Given the description of an element on the screen output the (x, y) to click on. 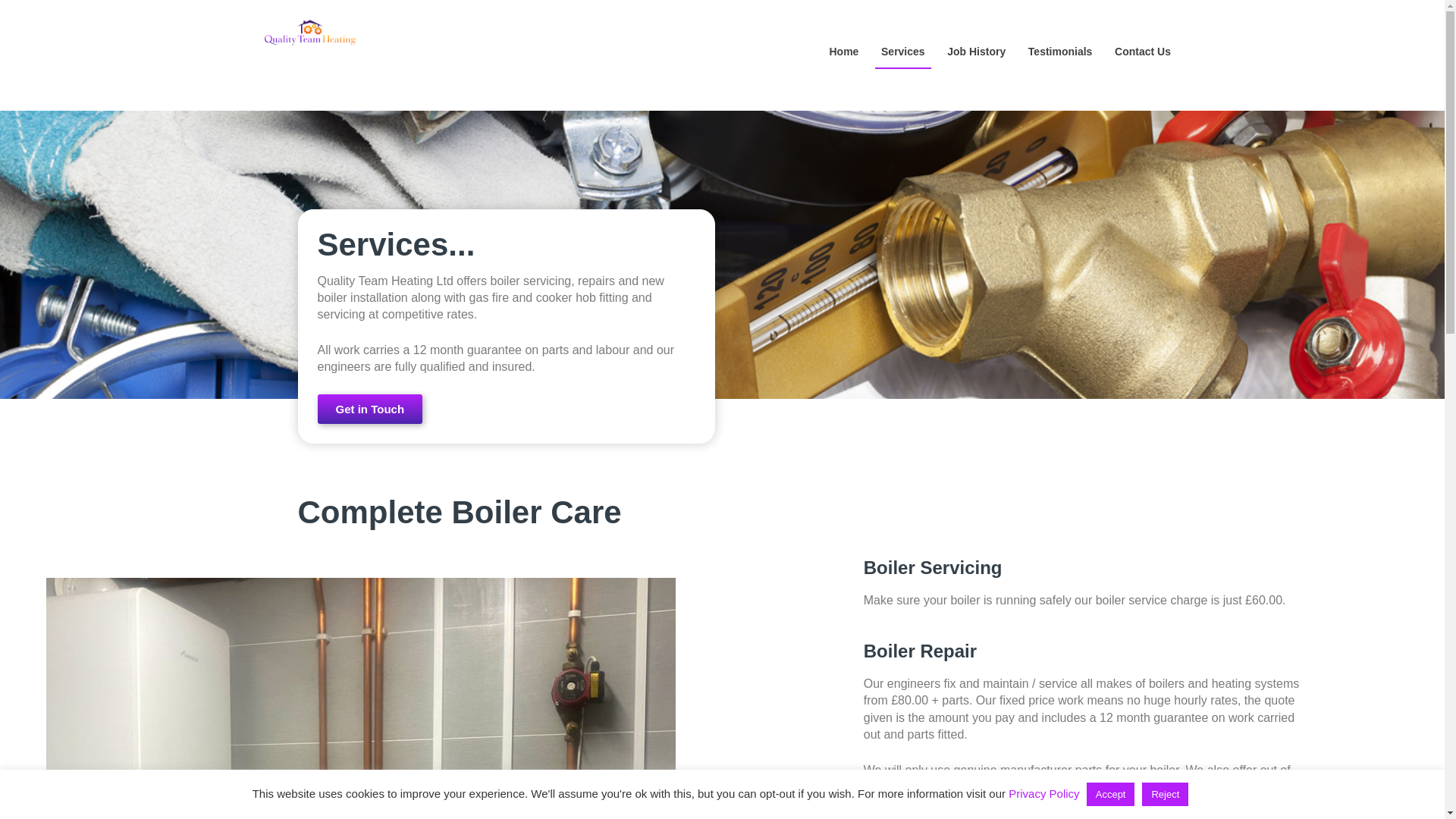
Services (903, 51)
Home (843, 51)
Job History (975, 51)
Accept (1110, 793)
Contact Us (1142, 51)
Get in Touch (369, 408)
Testimonials (1059, 51)
Quality Team Heating Ltd (436, 38)
Reject (1164, 793)
Privacy Policy (1043, 793)
